Given the description of an element on the screen output the (x, y) to click on. 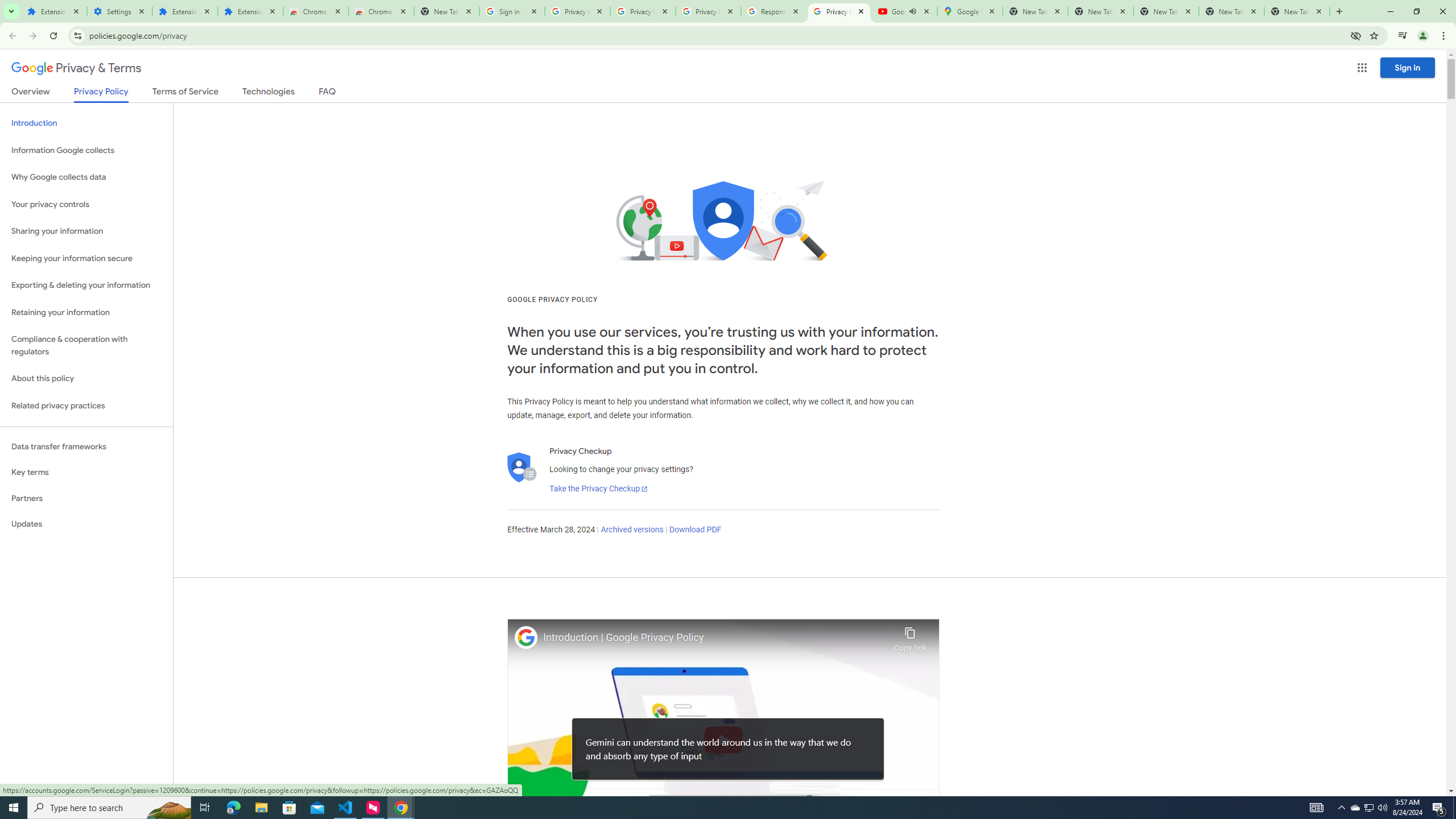
Introduction | Google Privacy Policy (715, 637)
Chrome Web Store (315, 11)
Updates (86, 524)
Play (723, 739)
Extensions (53, 11)
Sign in - Google Accounts (512, 11)
Your privacy controls (86, 204)
Settings (119, 11)
About this policy (86, 379)
Information Google collects (86, 150)
